Given the description of an element on the screen output the (x, y) to click on. 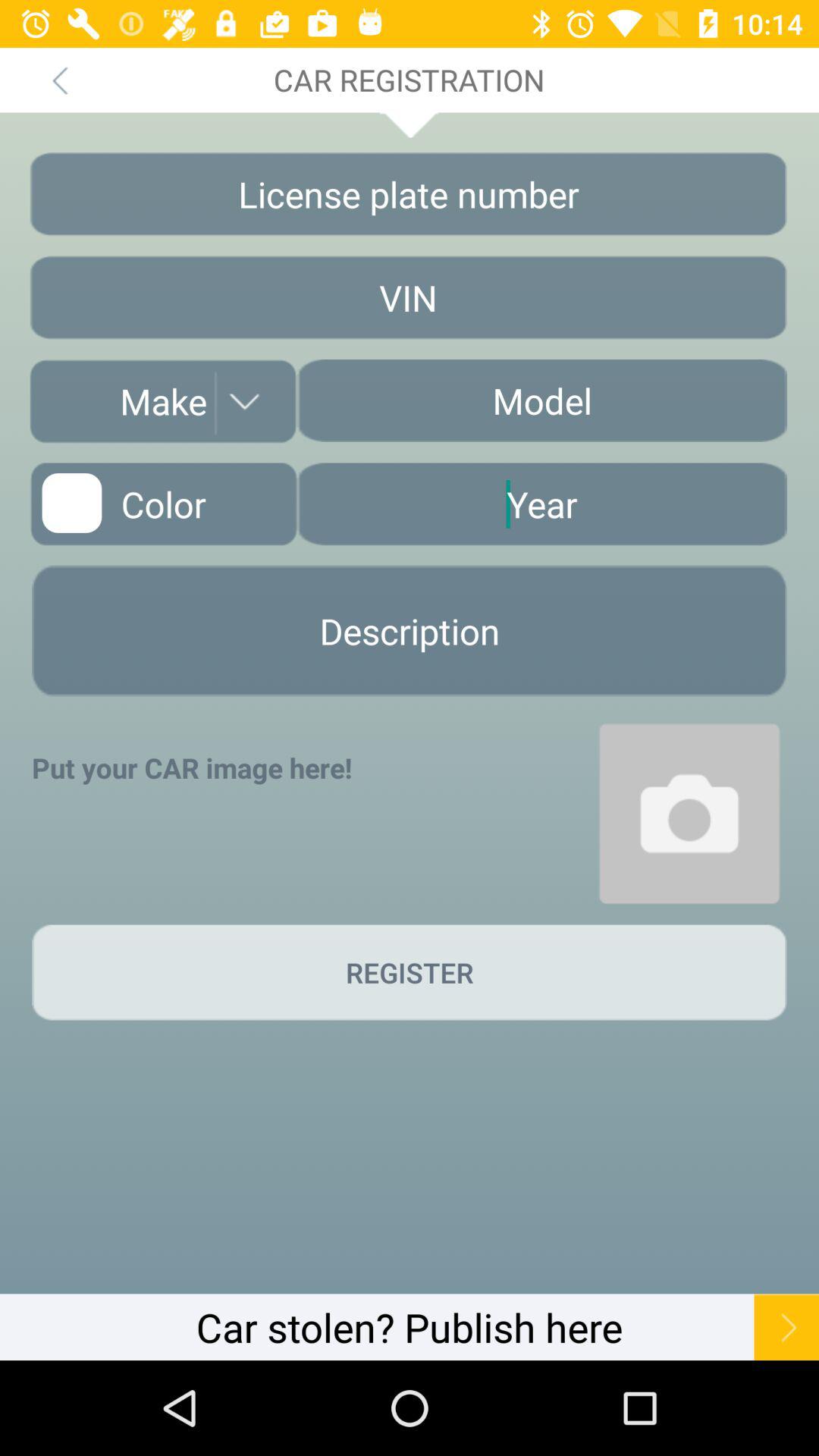
add vehicle description (409, 630)
